Given the description of an element on the screen output the (x, y) to click on. 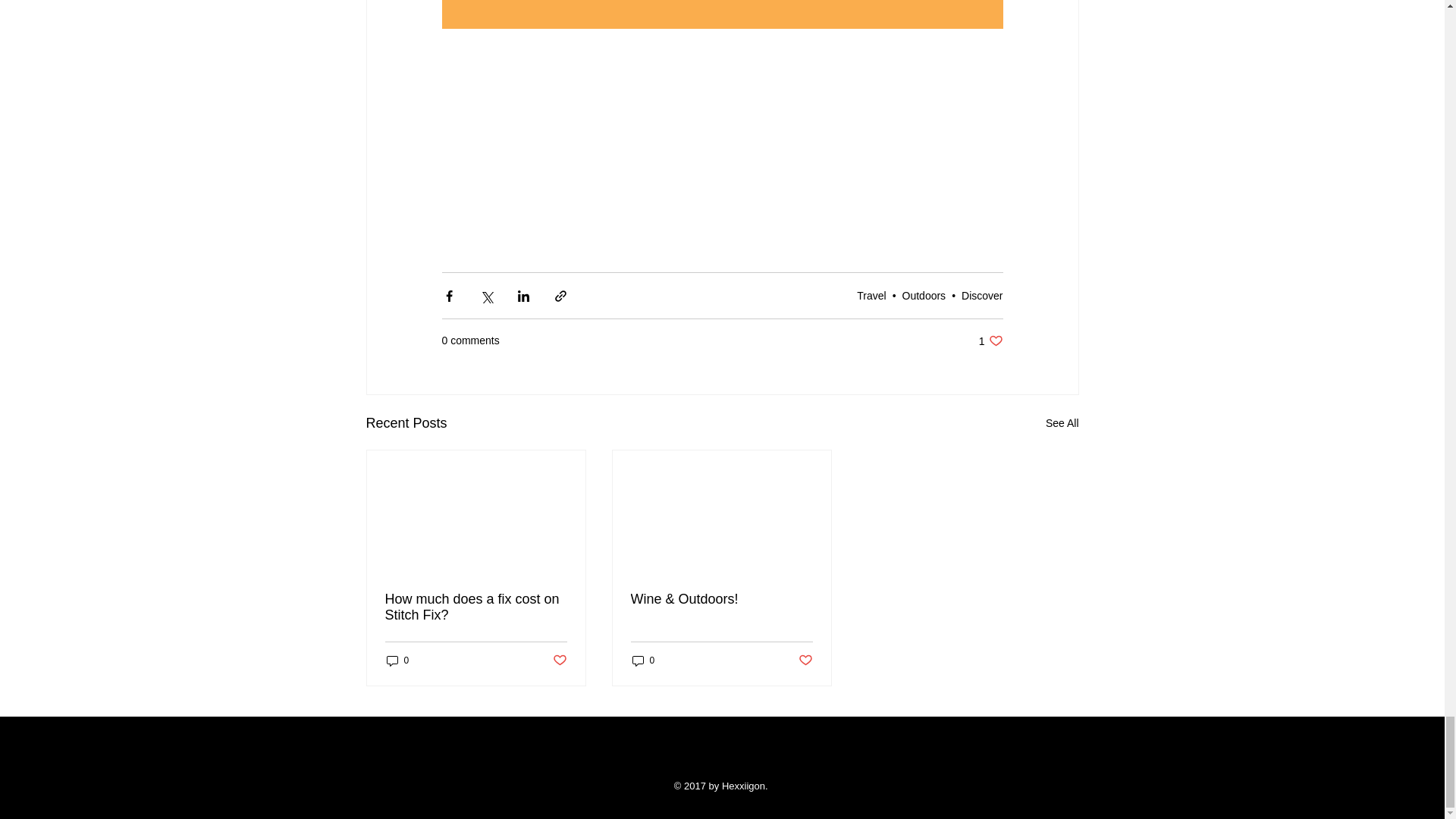
Outdoors (924, 295)
Discover (981, 295)
Post not marked as liked (558, 660)
How much does a fix cost on Stitch Fix? (476, 607)
Travel (990, 340)
See All (871, 295)
0 (1061, 423)
